Given the description of an element on the screen output the (x, y) to click on. 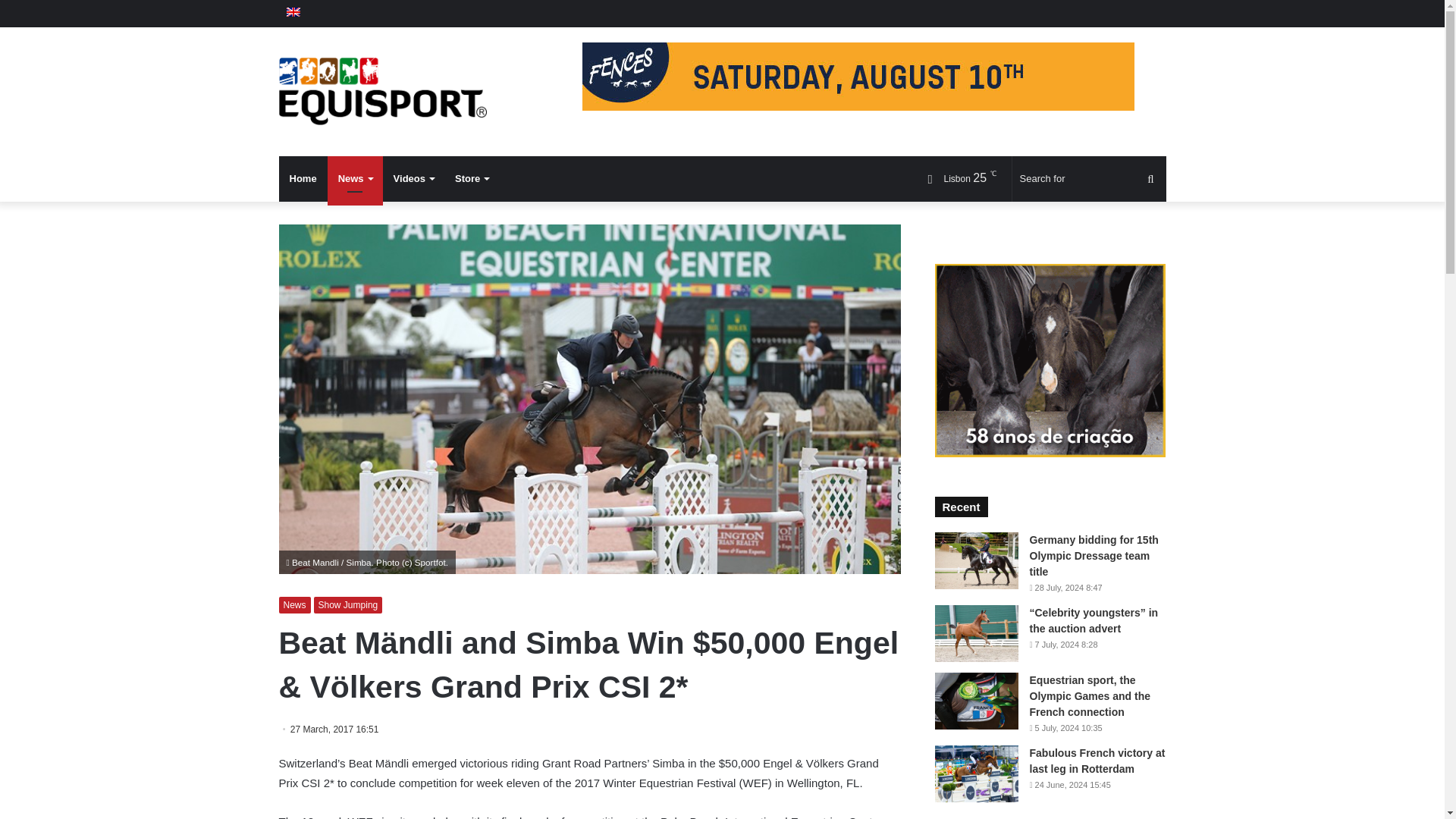
Home (303, 178)
Store (471, 178)
News (295, 605)
Search for (1088, 178)
Clear Sky (956, 178)
Show Jumping (348, 605)
EQUISPORT (382, 91)
Search for (1150, 178)
News (354, 178)
Videos (413, 178)
